Given the description of an element on the screen output the (x, y) to click on. 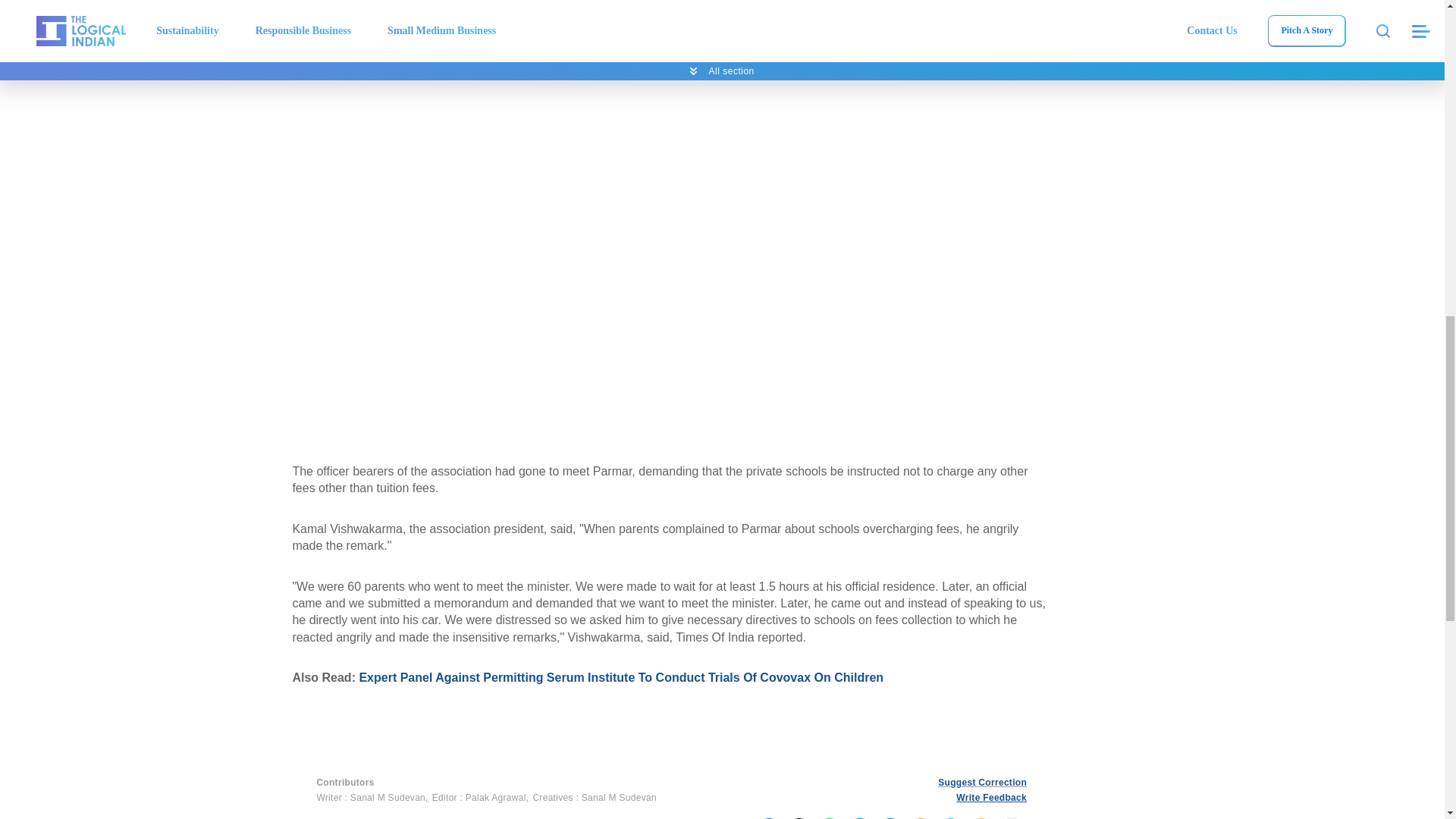
LinkedIn (890, 818)
Share by Email (919, 818)
